Given the description of an element on the screen output the (x, y) to click on. 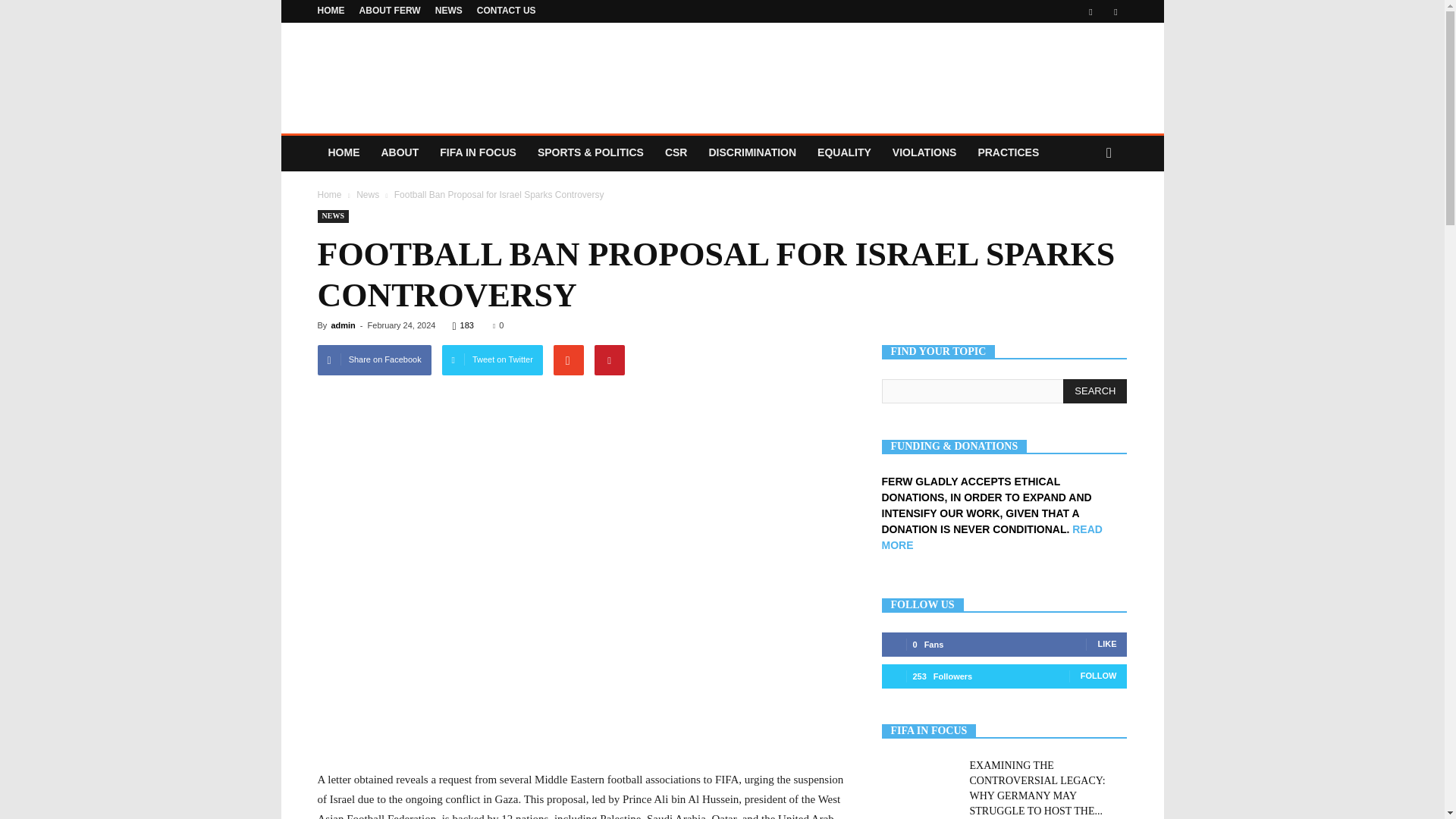
EQUALITY (844, 152)
News (367, 194)
PRACTICES (1007, 152)
DISCRIMINATION (751, 152)
Twitter (1114, 11)
ABOUT FERW (389, 9)
Search (1080, 213)
View all posts in News (367, 194)
HOME (330, 9)
NEWS (449, 9)
Facebook (1090, 11)
HOME (343, 152)
CONTACT US (506, 9)
ABOUT (399, 152)
FIFA IN FOCUS (478, 152)
